Given the description of an element on the screen output the (x, y) to click on. 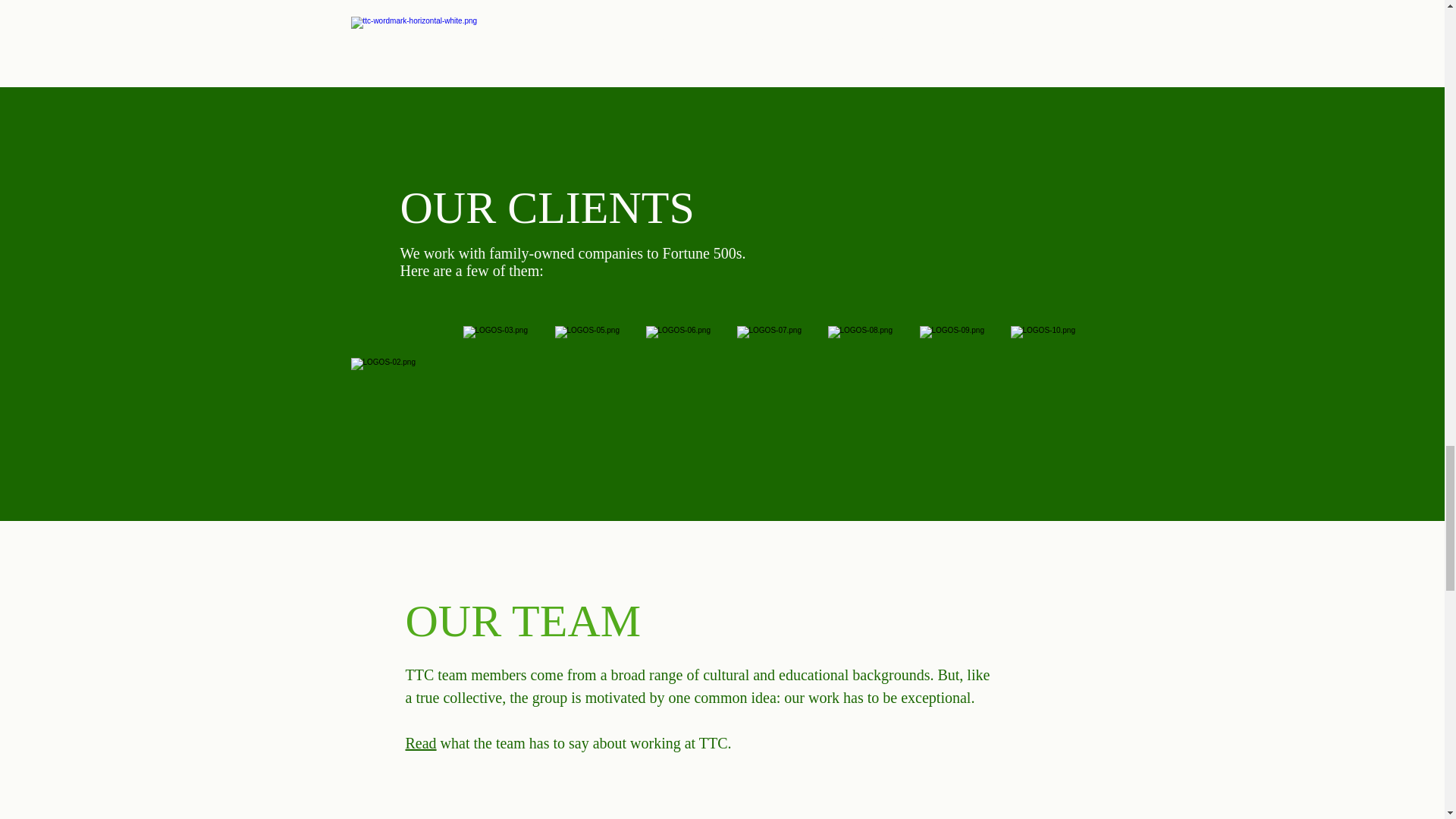
Read (419, 742)
